Given the description of an element on the screen output the (x, y) to click on. 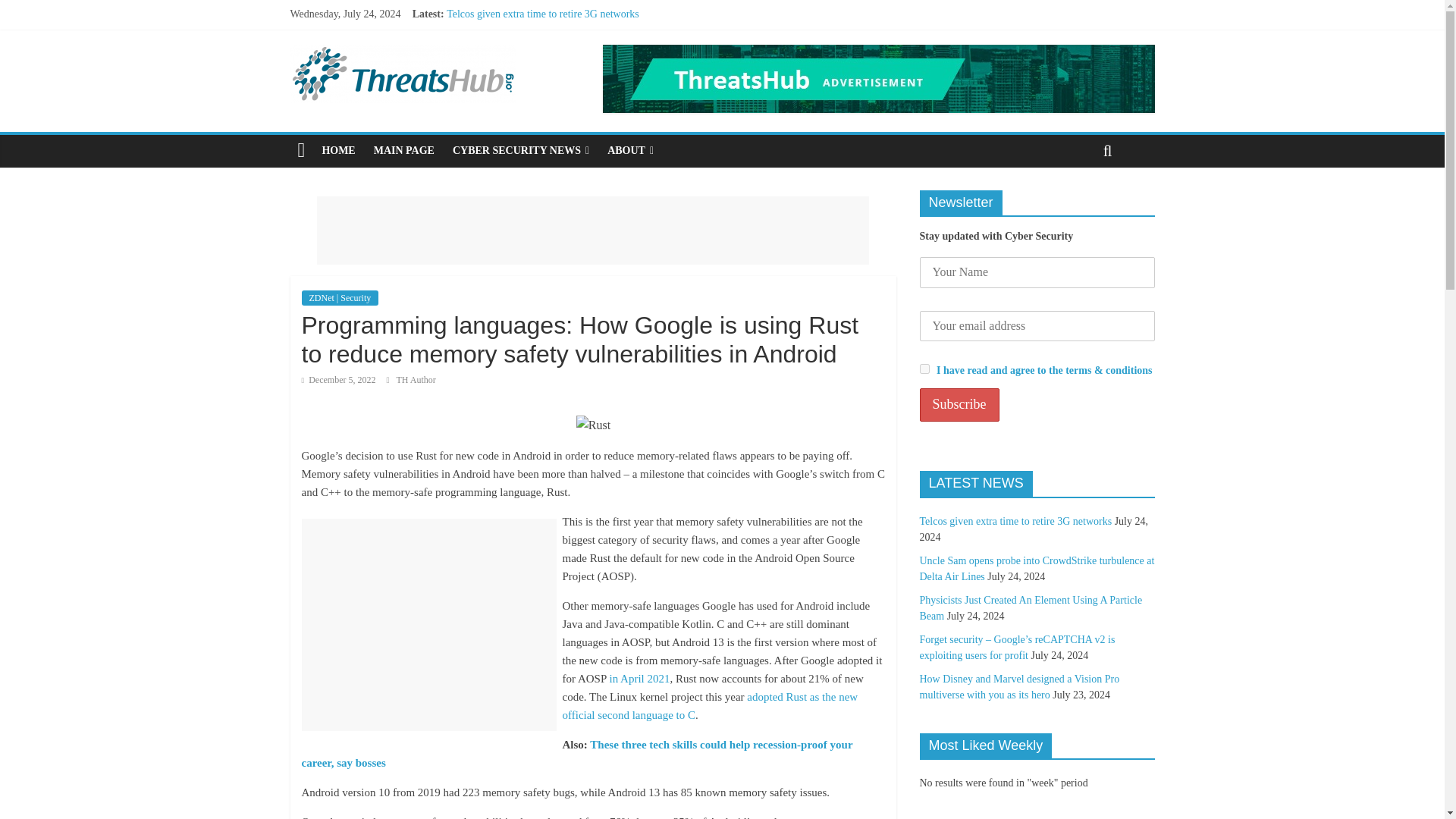
HOME (338, 151)
TH Author (415, 379)
December 5, 2022 (338, 379)
Telcos given extra time to retire 3G networks (542, 13)
adopted Rust as the new official second language to C (710, 706)
ABOUT (630, 151)
Subscribe (958, 404)
TH Author (415, 379)
MAIN PAGE (404, 151)
Physicists Just Created An Element Using A Particle Beam (571, 48)
Physicists Just Created An Element Using A Particle Beam (571, 48)
12:57 (338, 379)
in April 2021 (638, 678)
